Given the description of an element on the screen output the (x, y) to click on. 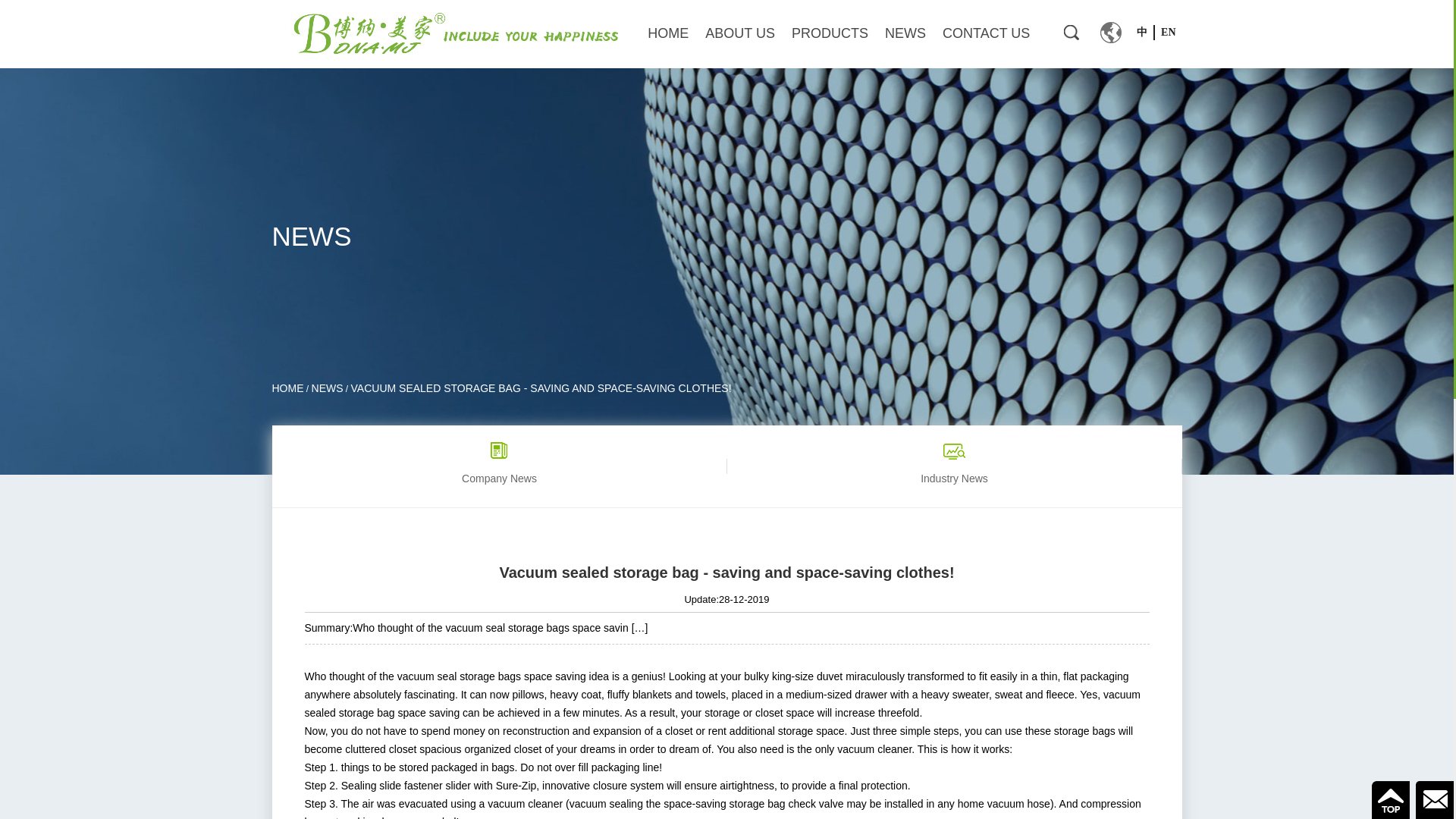
NEWS (327, 387)
ABOUT US (739, 33)
HOME (286, 387)
CONTACT US (985, 33)
Company News (498, 465)
Industry News (953, 465)
PRODUCTS (829, 33)
EN (1167, 31)
